Given the description of an element on the screen output the (x, y) to click on. 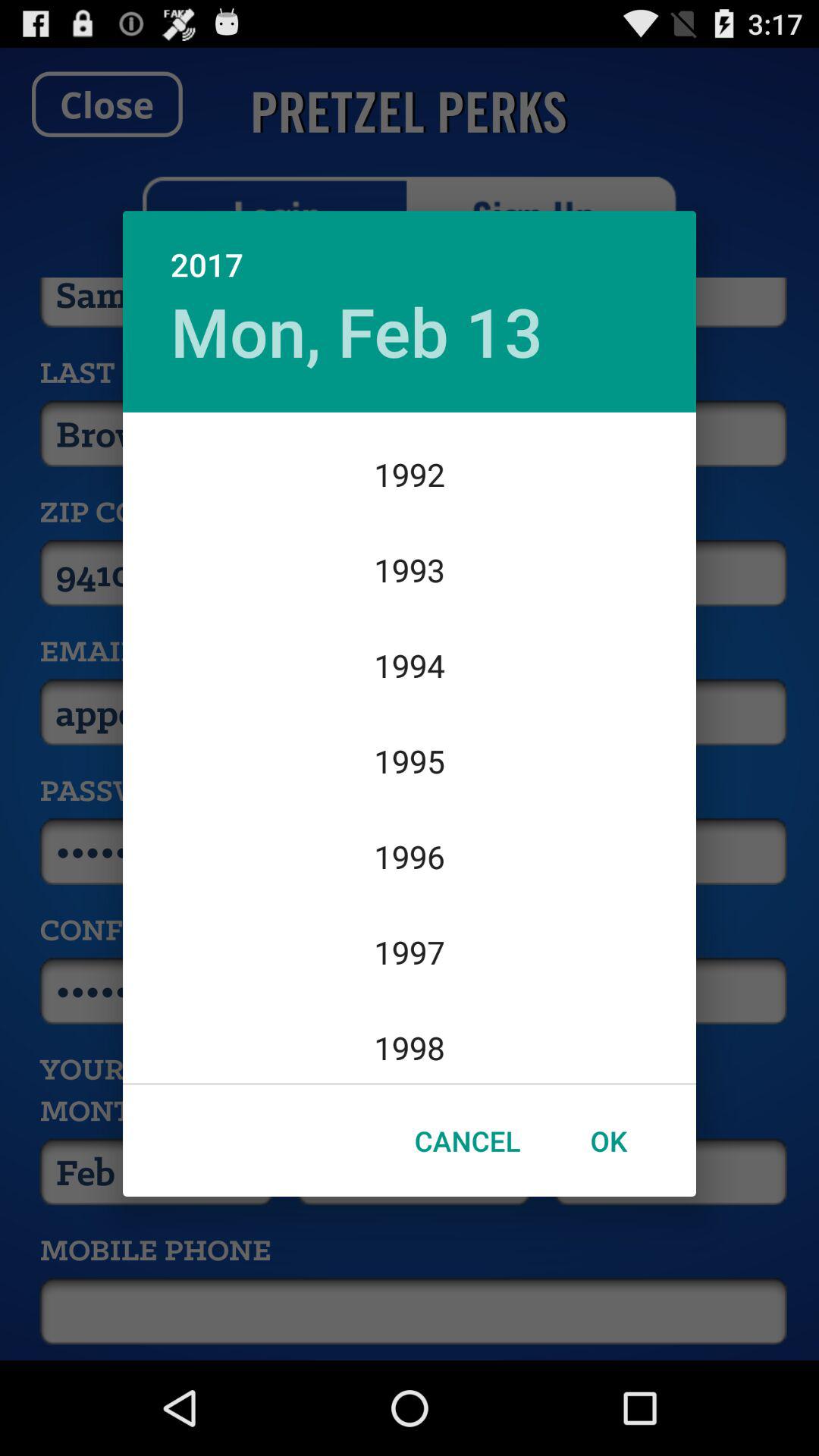
open ok (608, 1140)
